Given the description of an element on the screen output the (x, y) to click on. 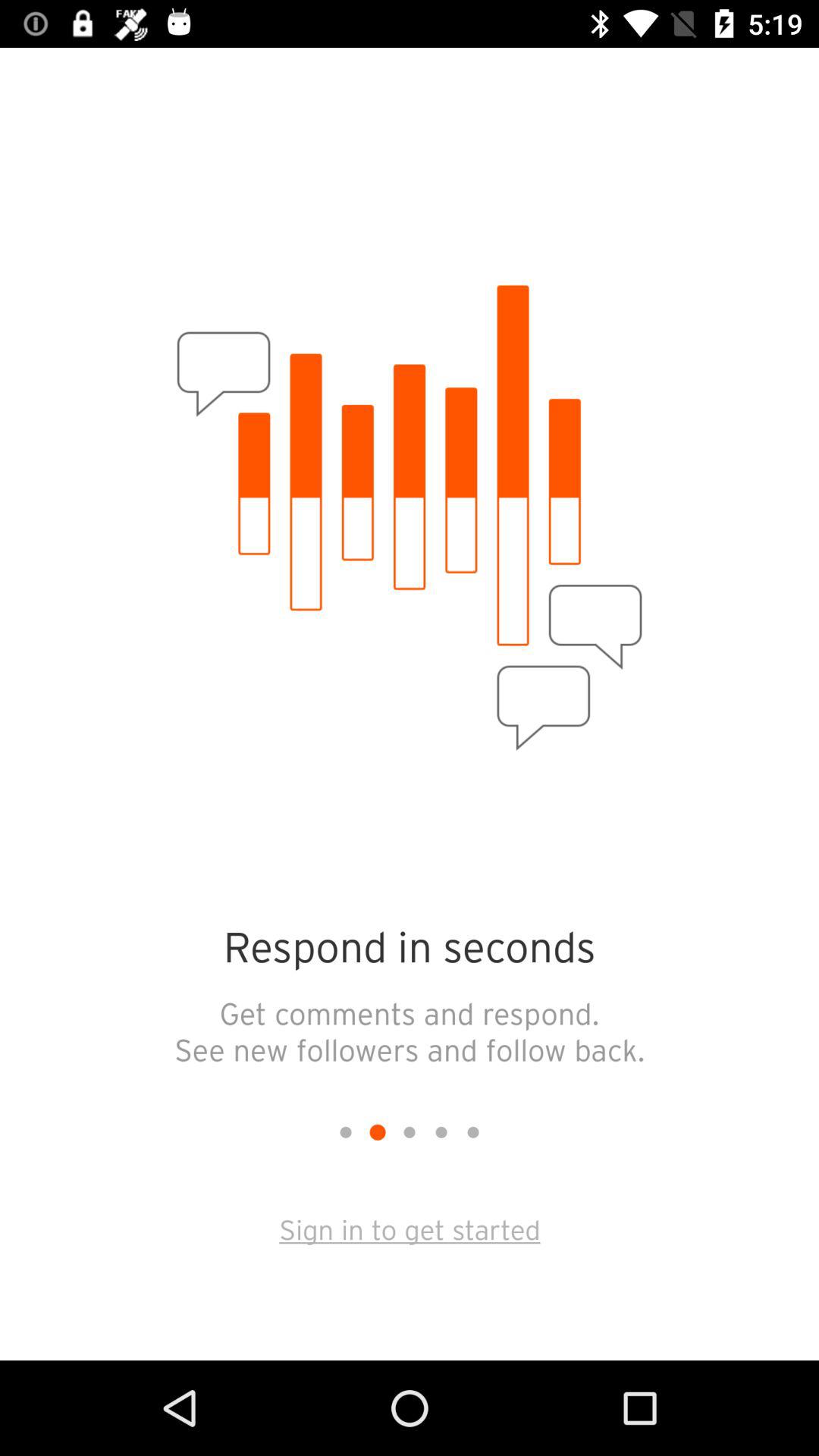
jump until the sign in to icon (409, 1228)
